Given the description of an element on the screen output the (x, y) to click on. 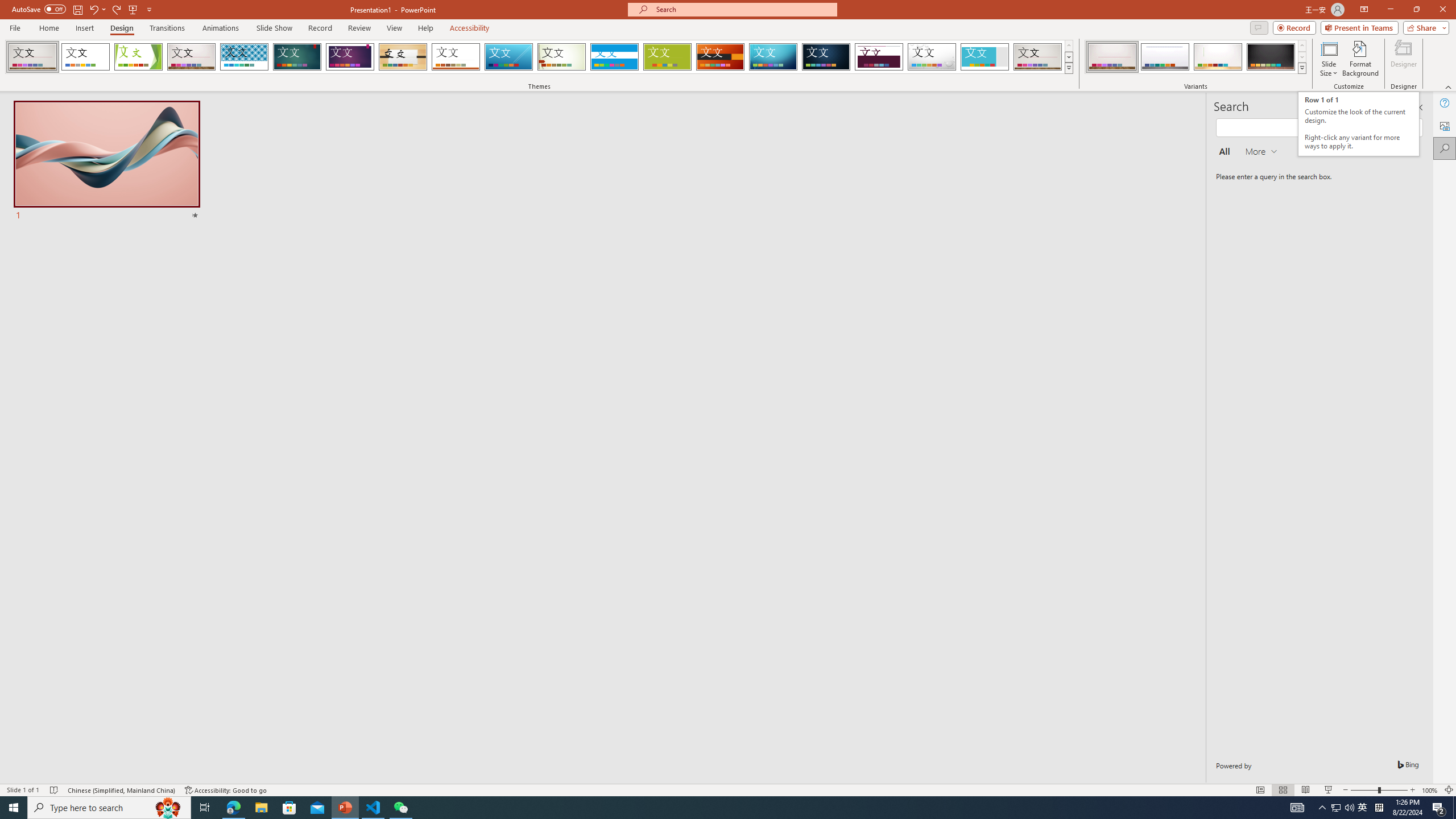
Banded (614, 56)
Gallery Variant 1 (1112, 56)
Frame (984, 56)
Organic (403, 56)
Circuit (772, 56)
